Given the description of an element on the screen output the (x, y) to click on. 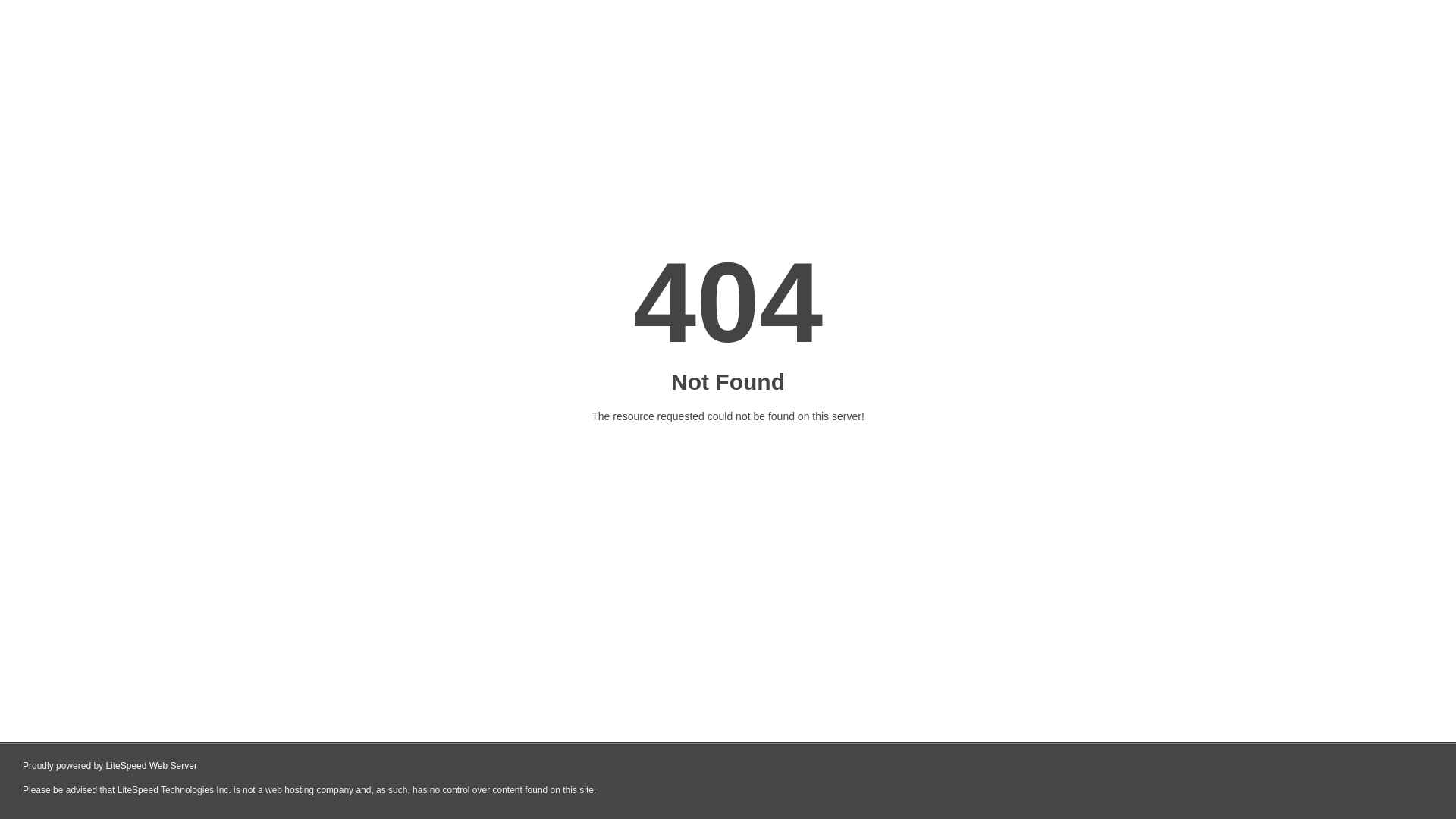
LiteSpeed Web Server Element type: text (151, 765)
